Given the description of an element on the screen output the (x, y) to click on. 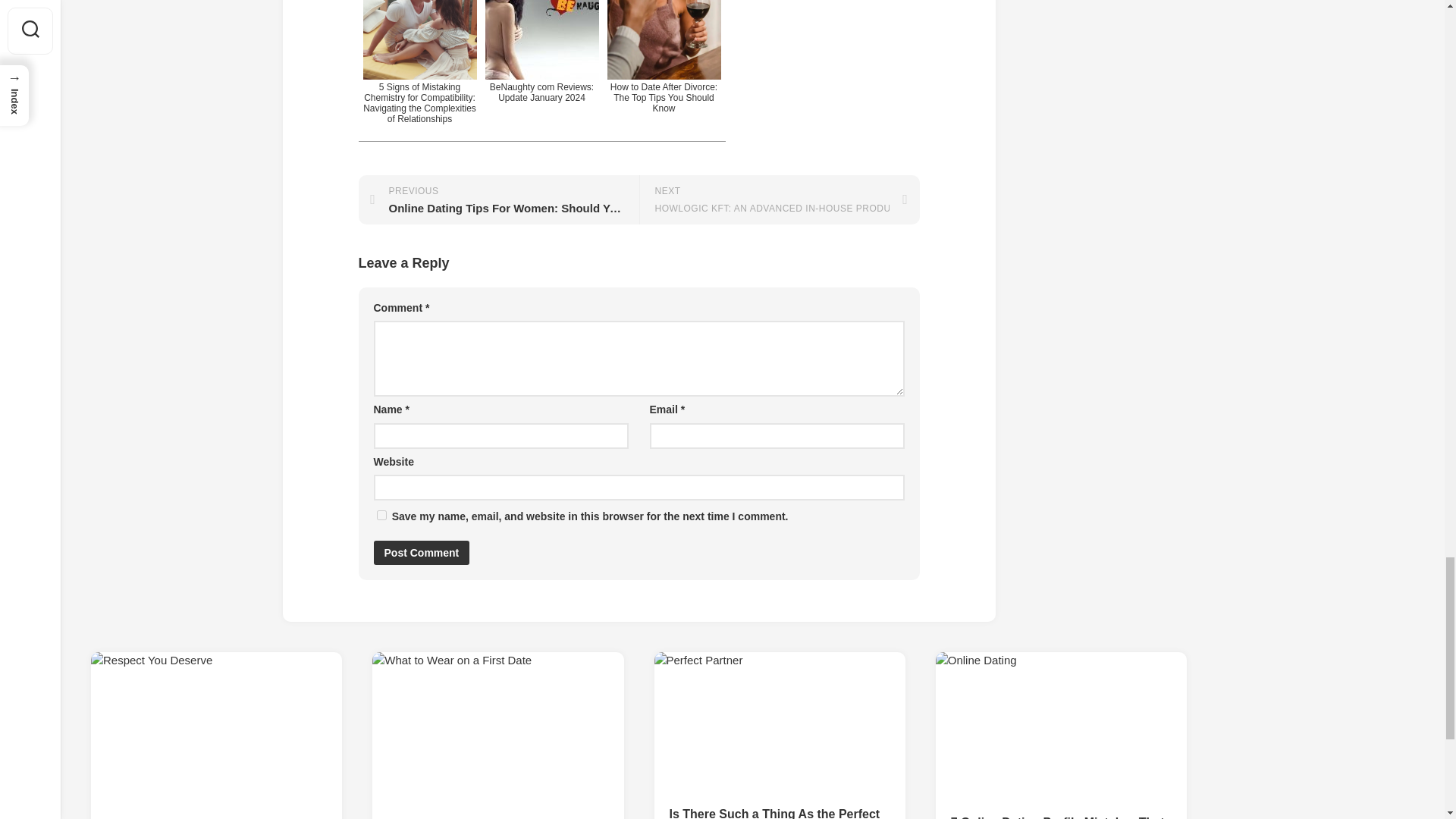
yes (380, 515)
Is There Such a Thing As the Perfect Partner (778, 812)
Post Comment (420, 552)
Post Comment (420, 552)
